Given the description of an element on the screen output the (x, y) to click on. 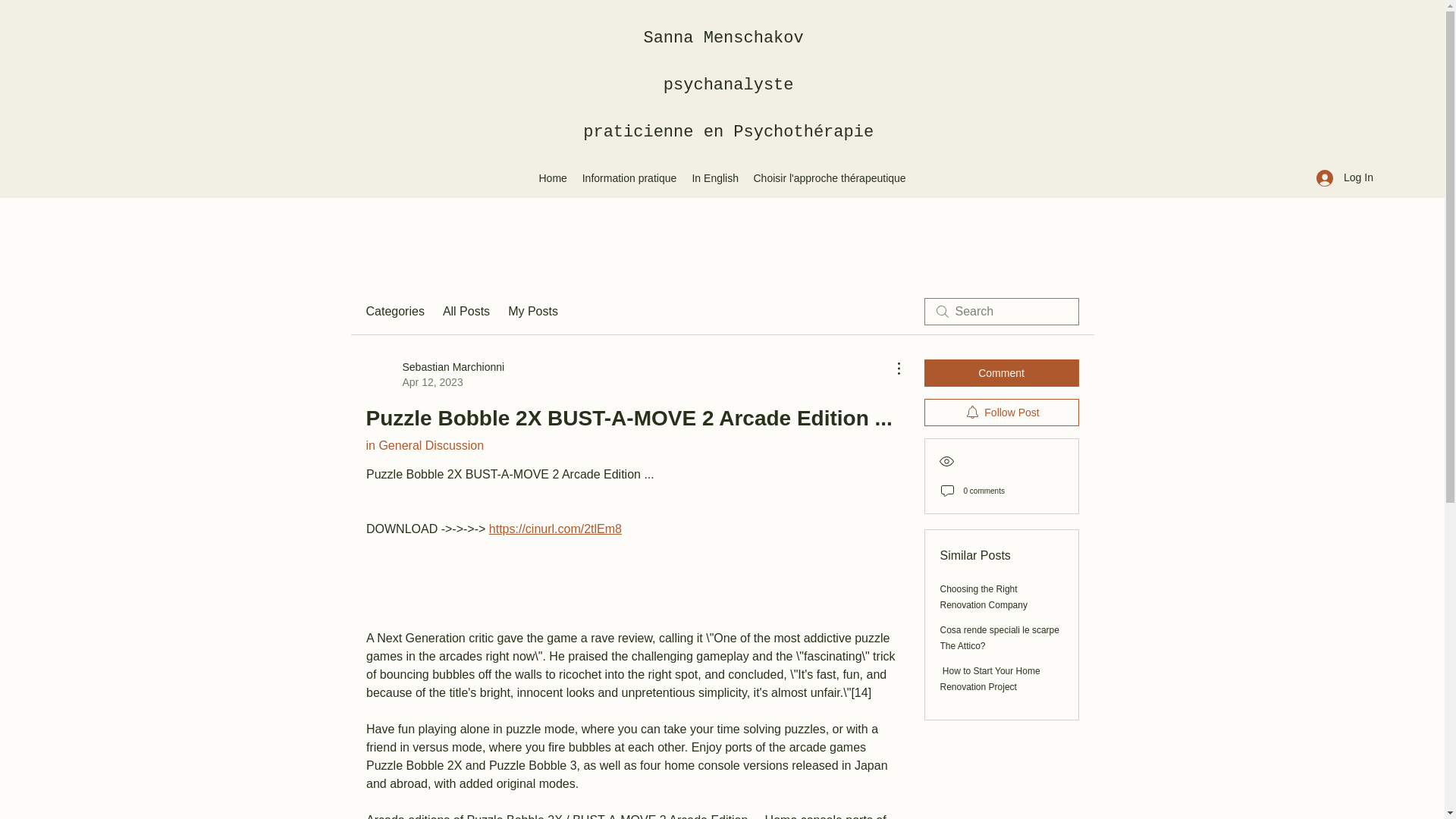
Cosa rende speciali le scarpe The Attico? (999, 637)
Comment (1000, 372)
Home (552, 178)
My Posts (532, 311)
Categories (394, 311)
Follow Post (1000, 411)
in General Discussion (424, 445)
Information pratique (628, 178)
 How to Start Your Home Renovation Project (990, 678)
In English (714, 178)
